Given the description of an element on the screen output the (x, y) to click on. 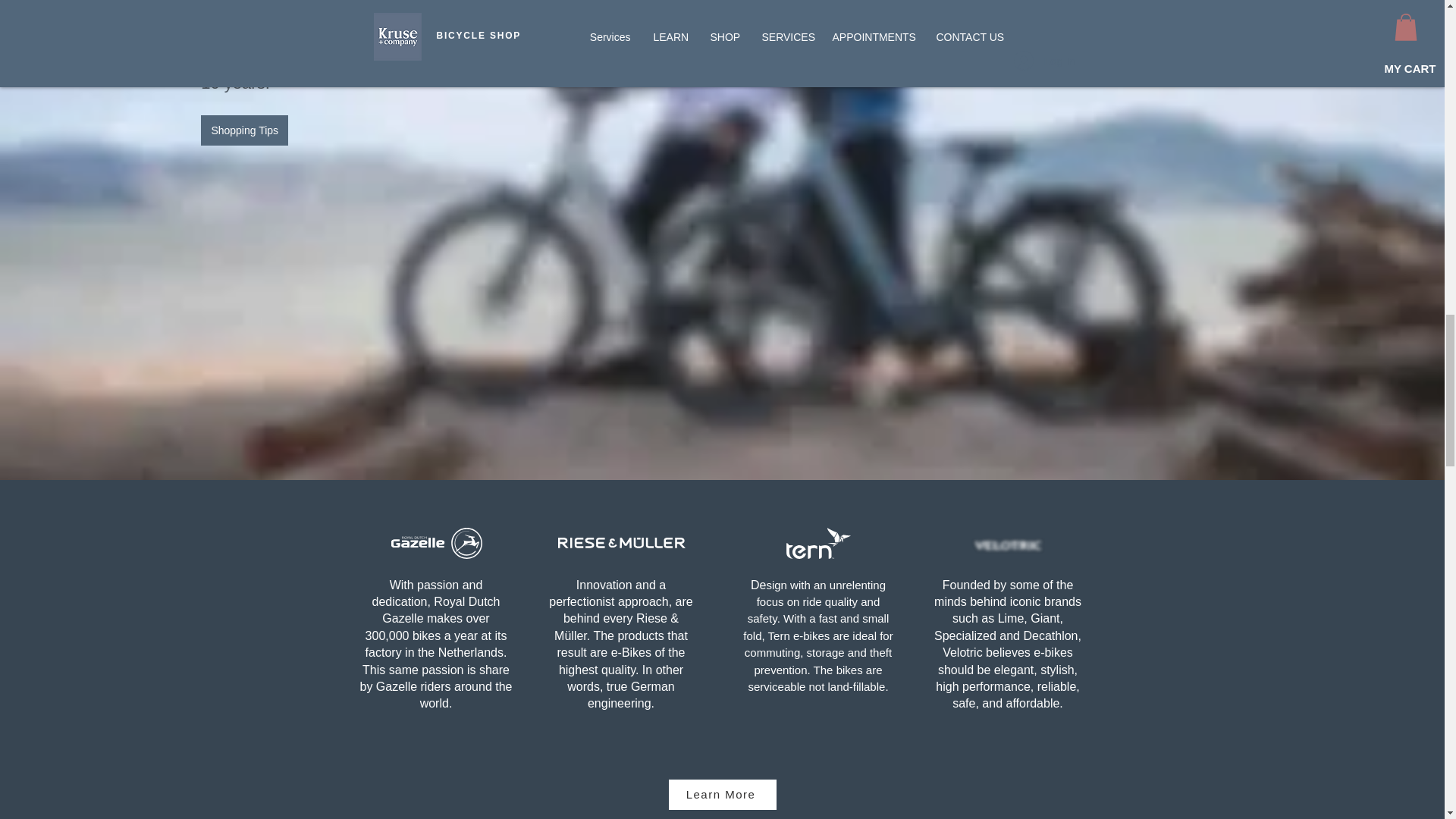
trans-Brands-We-Work-With-01-04.png (1007, 545)
Shopping Tips (244, 130)
